Given the description of an element on the screen output the (x, y) to click on. 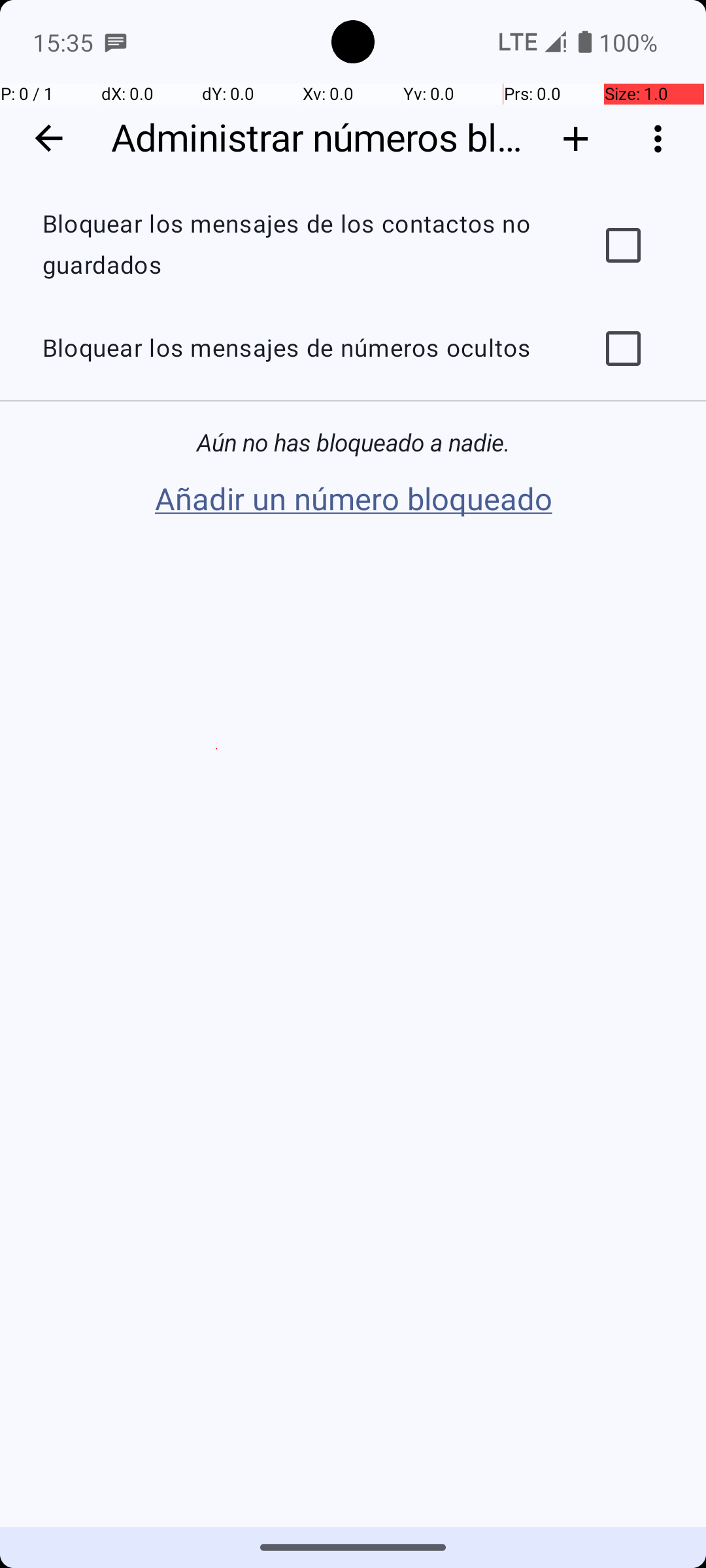
Aún no has bloqueado a nadie. Element type: android.widget.TextView (352, 443)
Administrar números bloqueados Element type: android.widget.TextView (318, 138)
Bloquear los mensajes de los contactos no guardados Element type: android.widget.TextView (297, 244)
Bloquear los mensajes de números ocultos Element type: android.widget.TextView (297, 348)
Añadir un número bloqueado Element type: android.widget.TextView (352, 499)
